Given the description of an element on the screen output the (x, y) to click on. 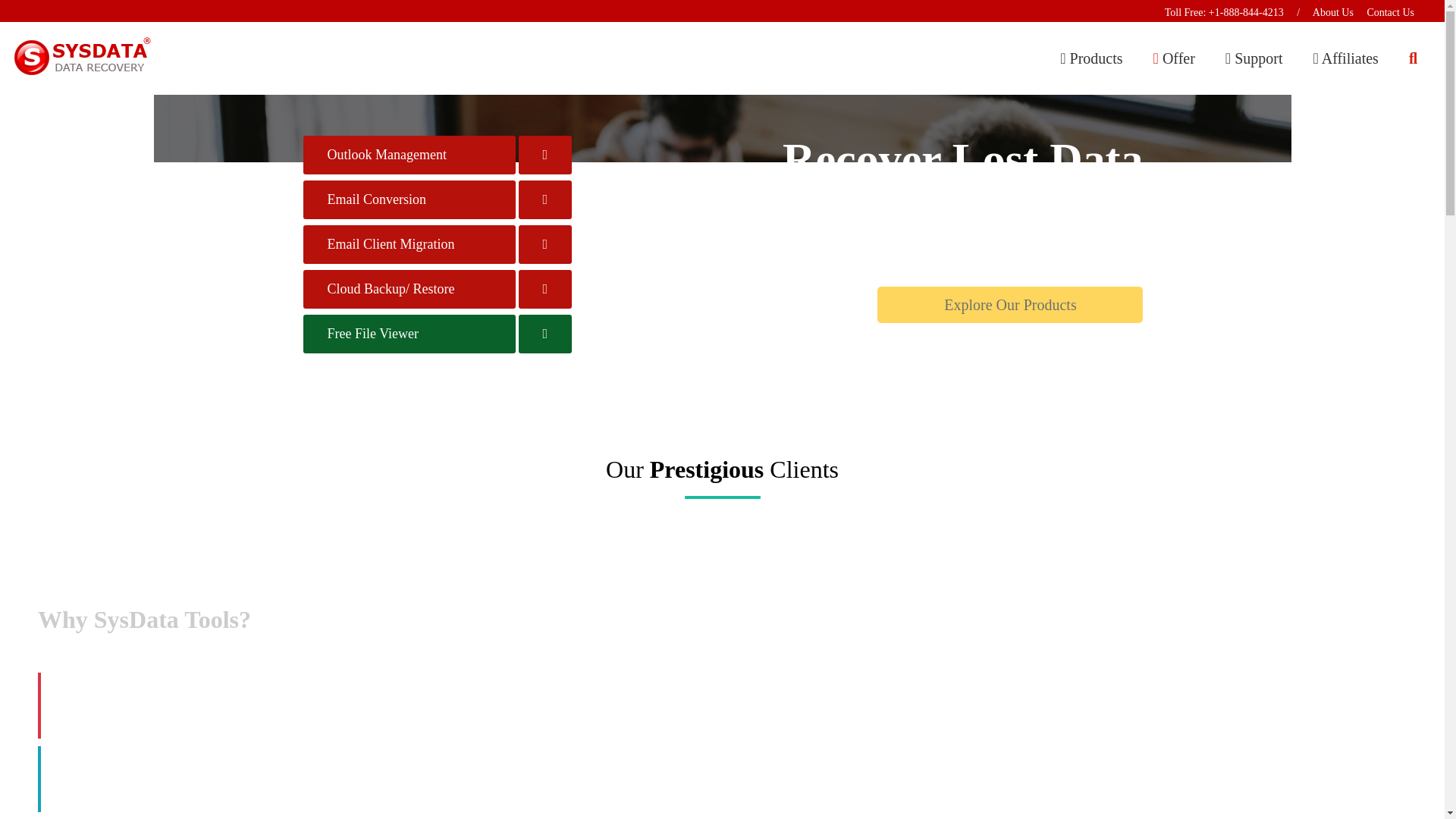
Products (1091, 58)
Explore Our Products (1009, 304)
About Us (1333, 12)
Affiliates (1345, 58)
Contact Us (1390, 12)
Offer (1174, 58)
Explore Our Products (1009, 303)
Support (1254, 58)
